Given the description of an element on the screen output the (x, y) to click on. 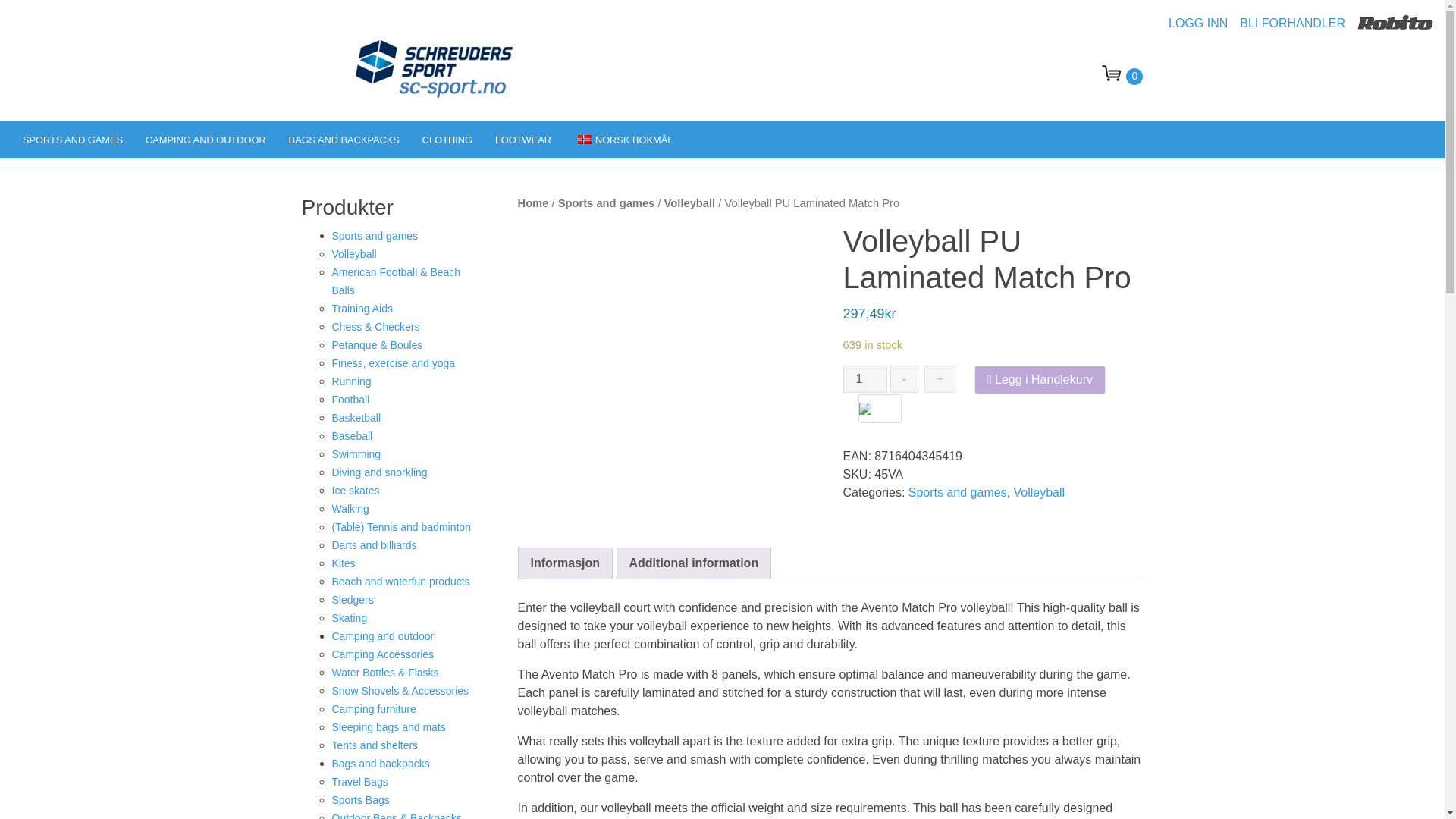
Camping and outdoor (205, 139)
SPORTS AND GAMES (72, 139)
CLOTHING (446, 139)
CAMPING AND OUTDOOR (205, 139)
LOGG INN (1204, 22)
BLI FORHANDLER (1298, 22)
Footwear (522, 139)
Buy now with Vipps (880, 408)
Bags and backpacks (344, 139)
Clothing (446, 139)
Sports and games (72, 139)
FOOTWEAR (522, 139)
BAGS AND BACKPACKS (344, 139)
1 (864, 379)
